Given the description of an element on the screen output the (x, y) to click on. 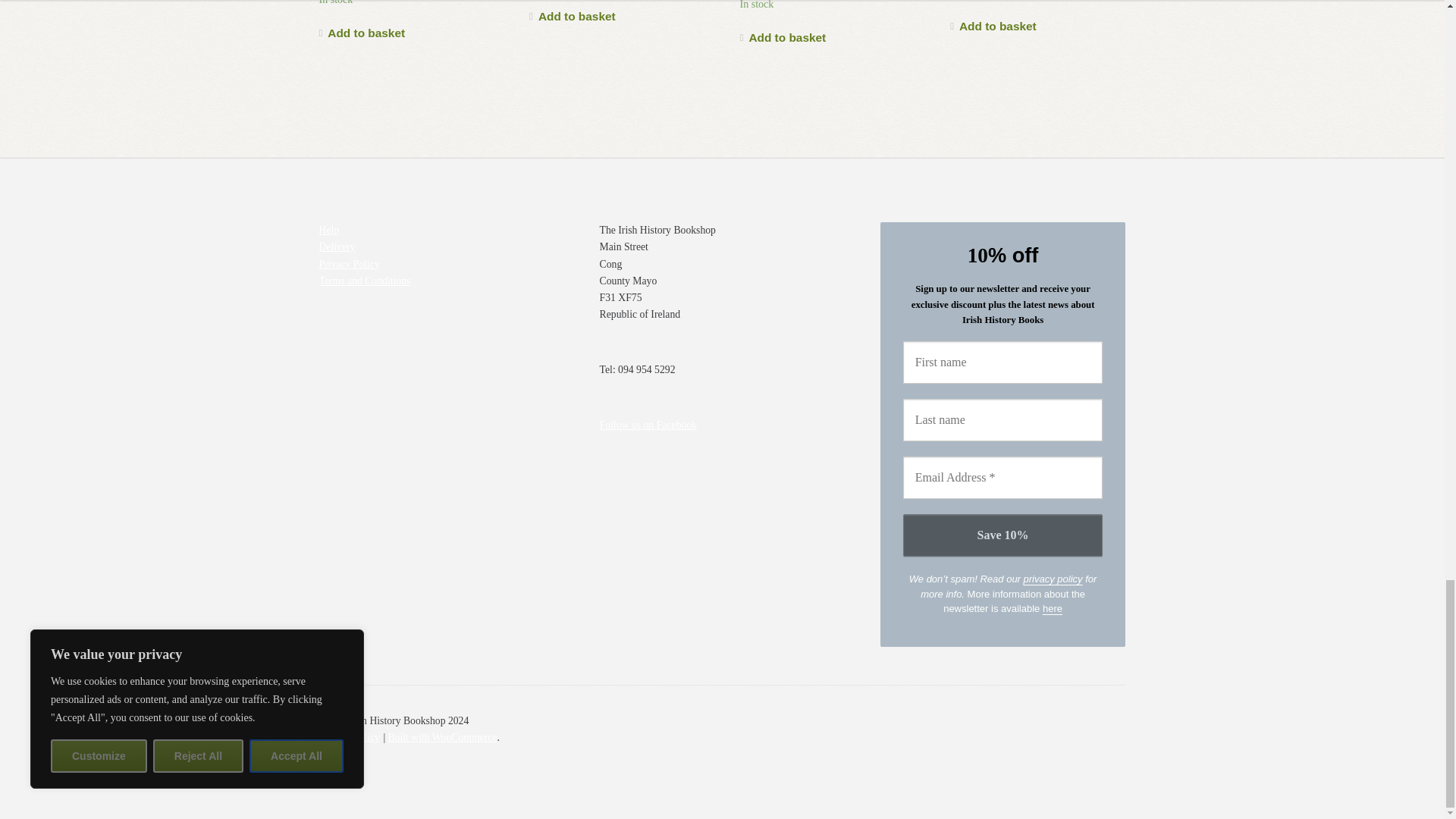
First name (1002, 362)
WooCommerce - The Best eCommerce Platform for WordPress (441, 737)
Last name (1002, 419)
Email Address (1002, 477)
